Given the description of an element on the screen output the (x, y) to click on. 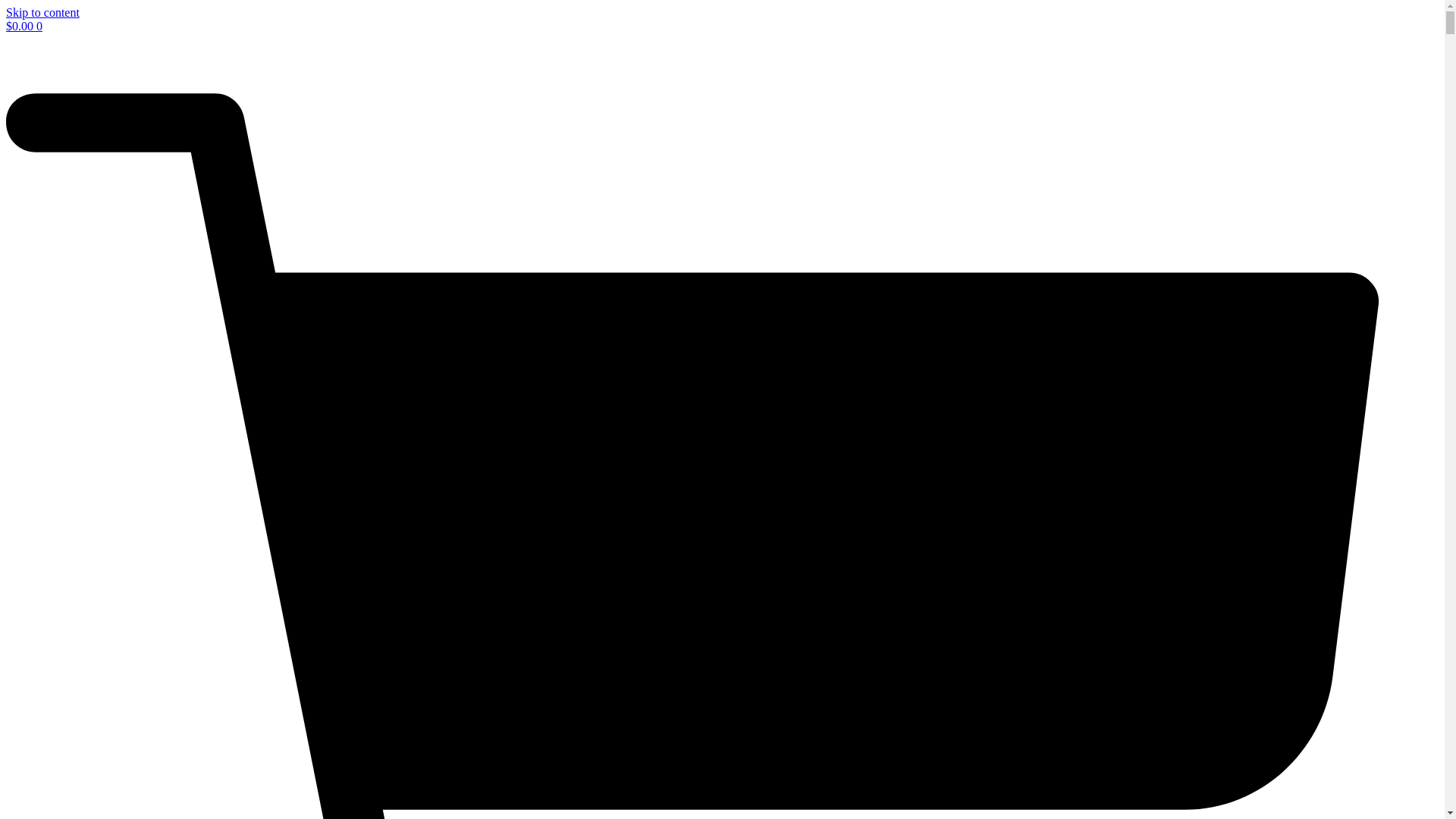
Skip to content Element type: text (42, 12)
